Given the description of an element on the screen output the (x, y) to click on. 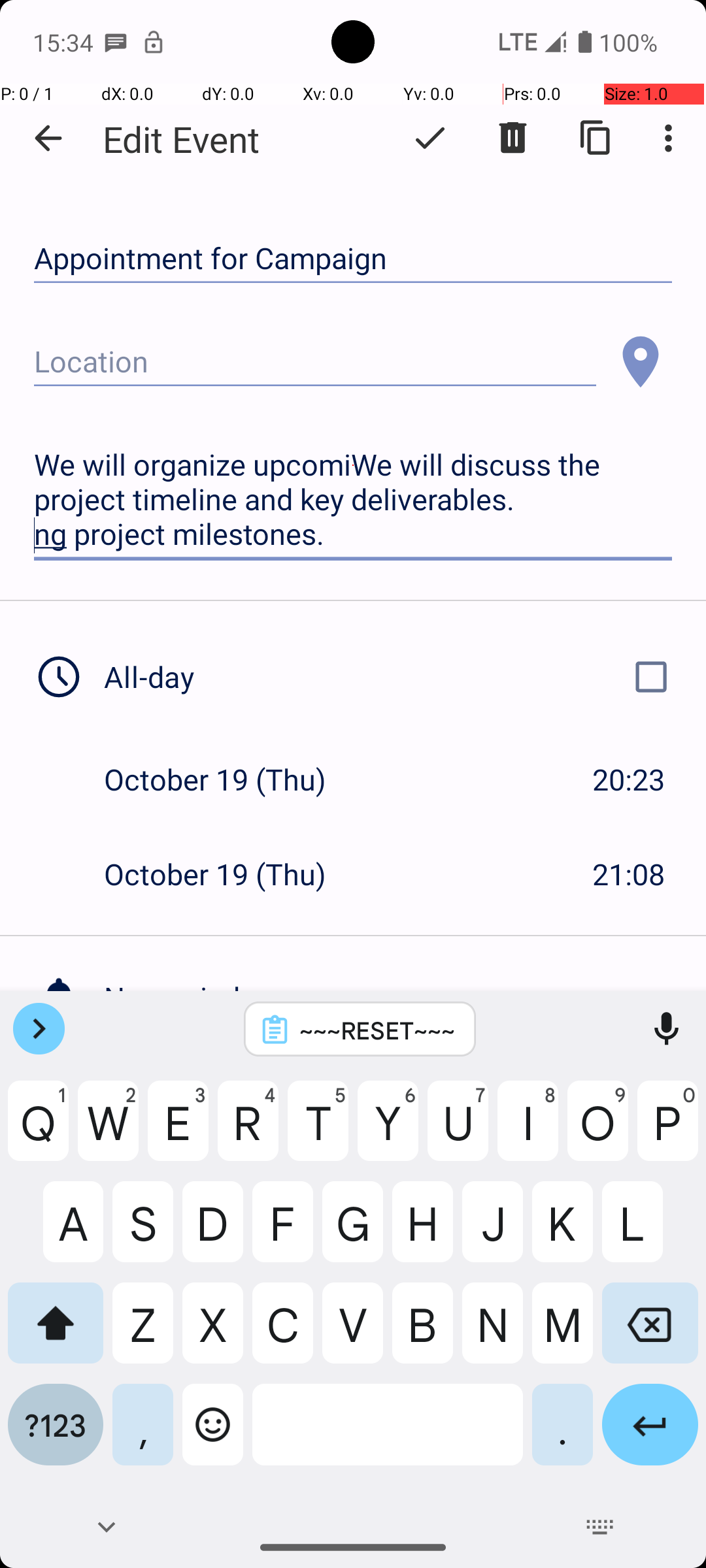
We will organize upcomiWe will discuss the project timeline and key deliverables.
ng project milestones. Element type: android.widget.EditText (352, 499)
October 19 (Thu) Element type: android.widget.TextView (228, 778)
20:23 Element type: android.widget.TextView (628, 778)
21:08 Element type: android.widget.TextView (628, 873)
